Given the description of an element on the screen output the (x, y) to click on. 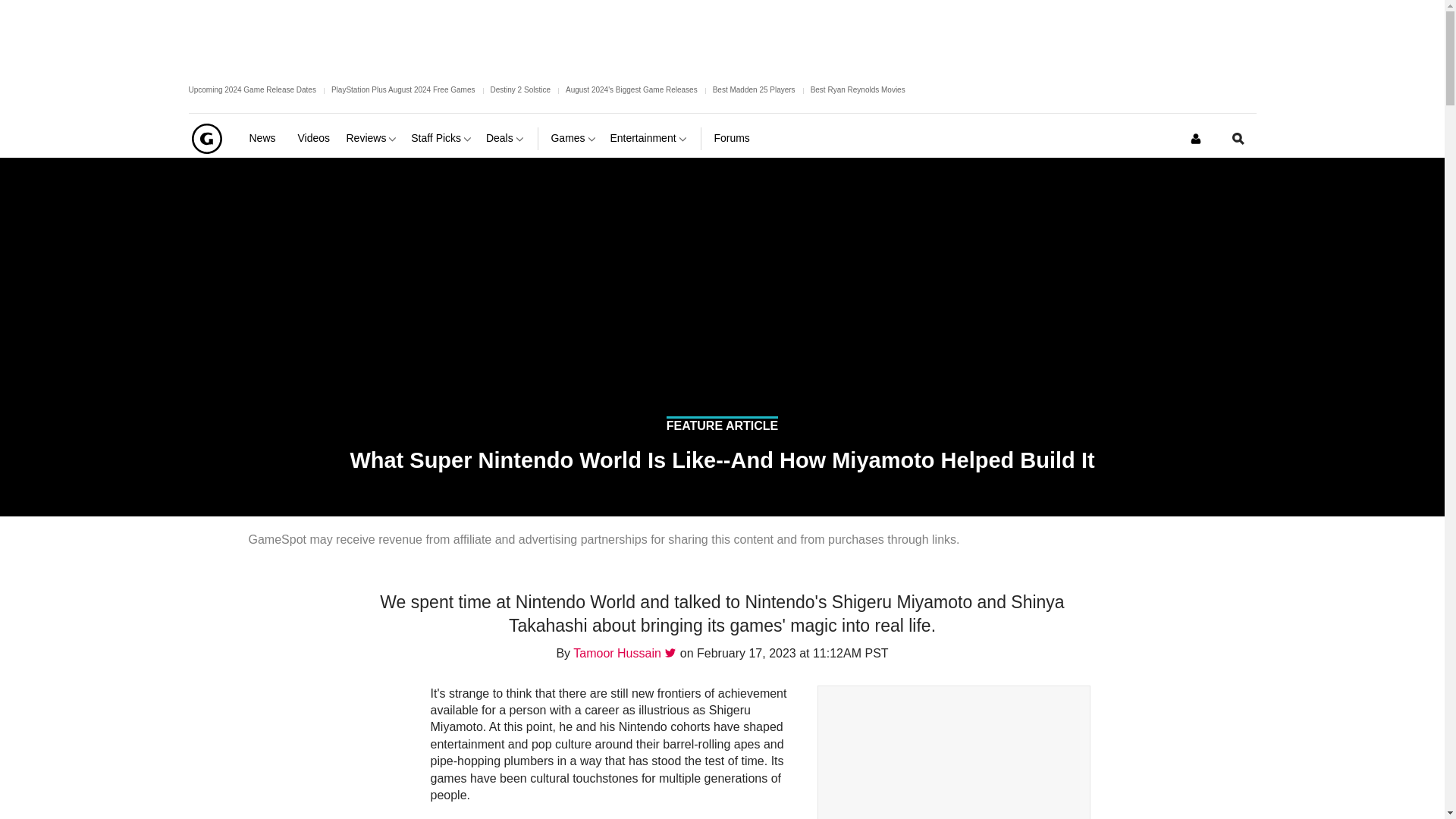
Videos (315, 138)
Best Madden 25 Players (753, 89)
Best Ryan Reynolds Movies (857, 89)
Reviews (372, 138)
Deals (505, 138)
News (266, 138)
Upcoming 2024 Game Release Dates (251, 89)
Staff Picks (442, 138)
GameSpot (205, 138)
Games (573, 138)
PlayStation Plus August 2024 Free Games (403, 89)
August 2024's Biggest Game Releases (631, 89)
Destiny 2 Solstice (519, 89)
